Given the description of an element on the screen output the (x, y) to click on. 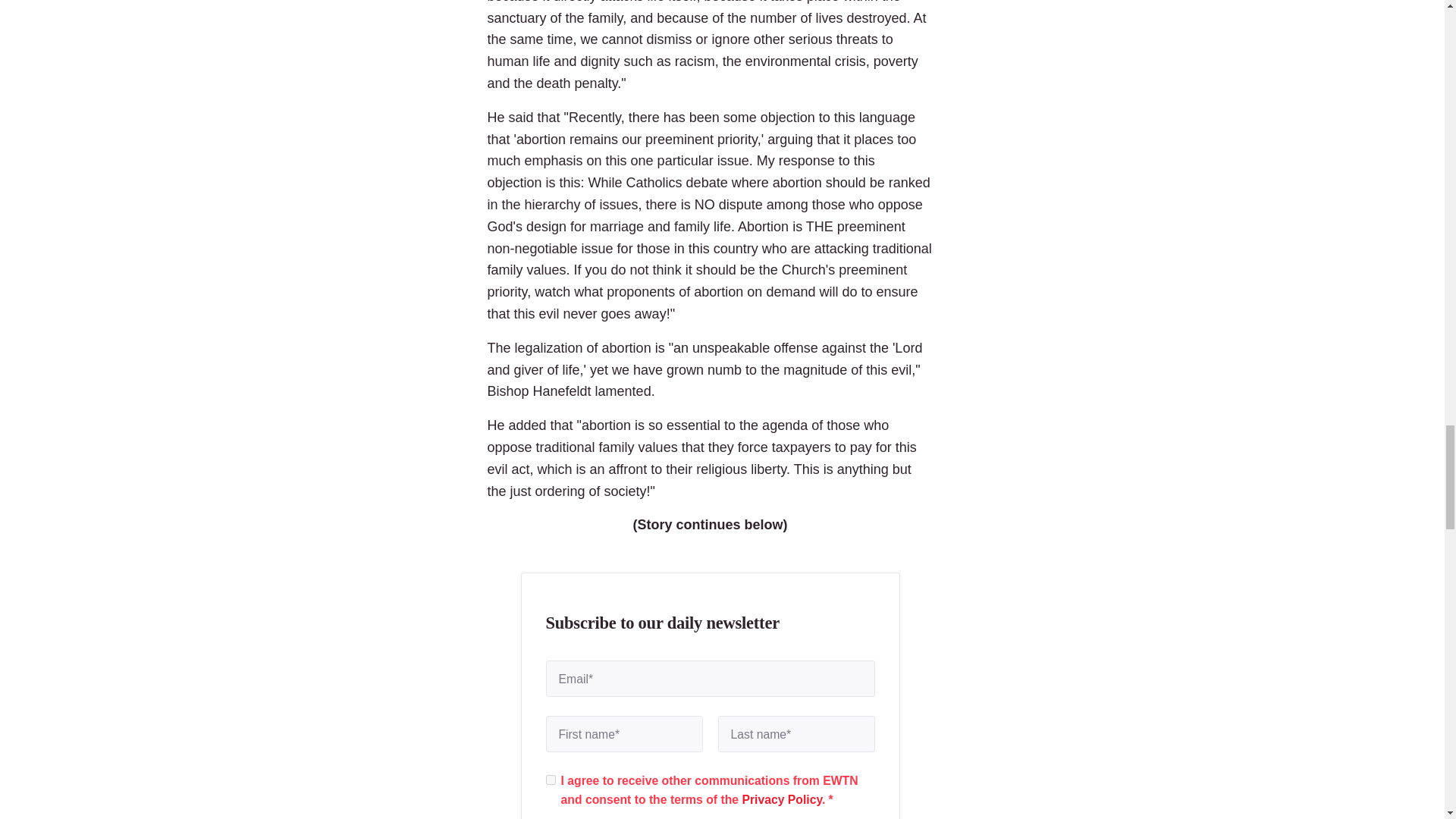
true (551, 779)
